Given the description of an element on the screen output the (x, y) to click on. 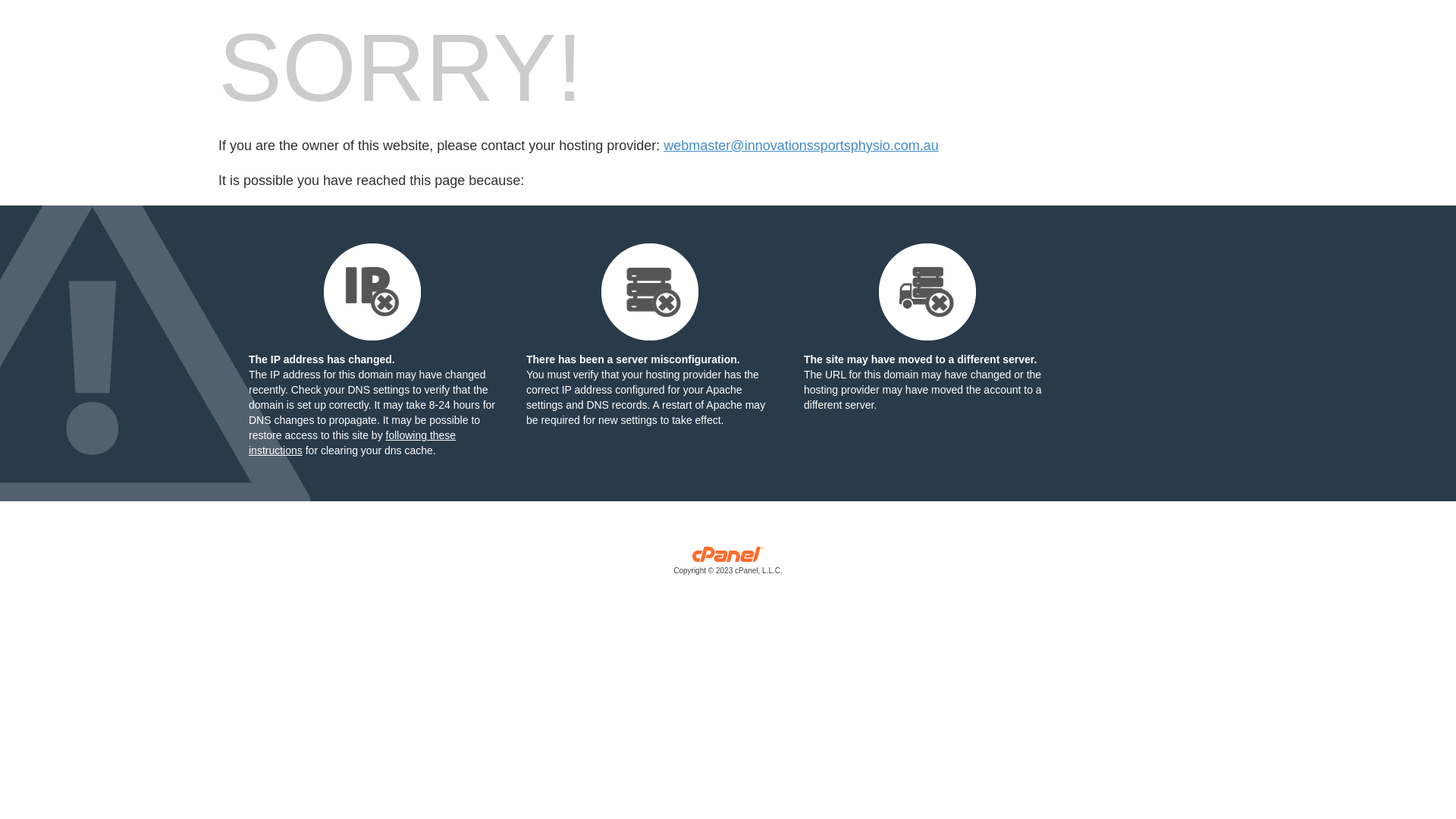
webmaster@innovationssportsphysio.com.au Element type: text (800, 145)
following these instructions Element type: text (351, 442)
